Given the description of an element on the screen output the (x, y) to click on. 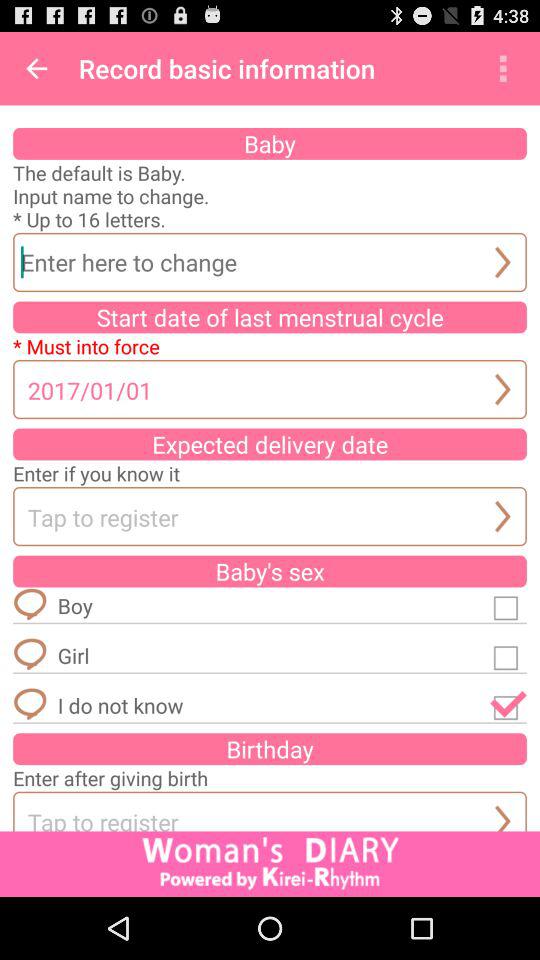
option (508, 655)
